Given the description of an element on the screen output the (x, y) to click on. 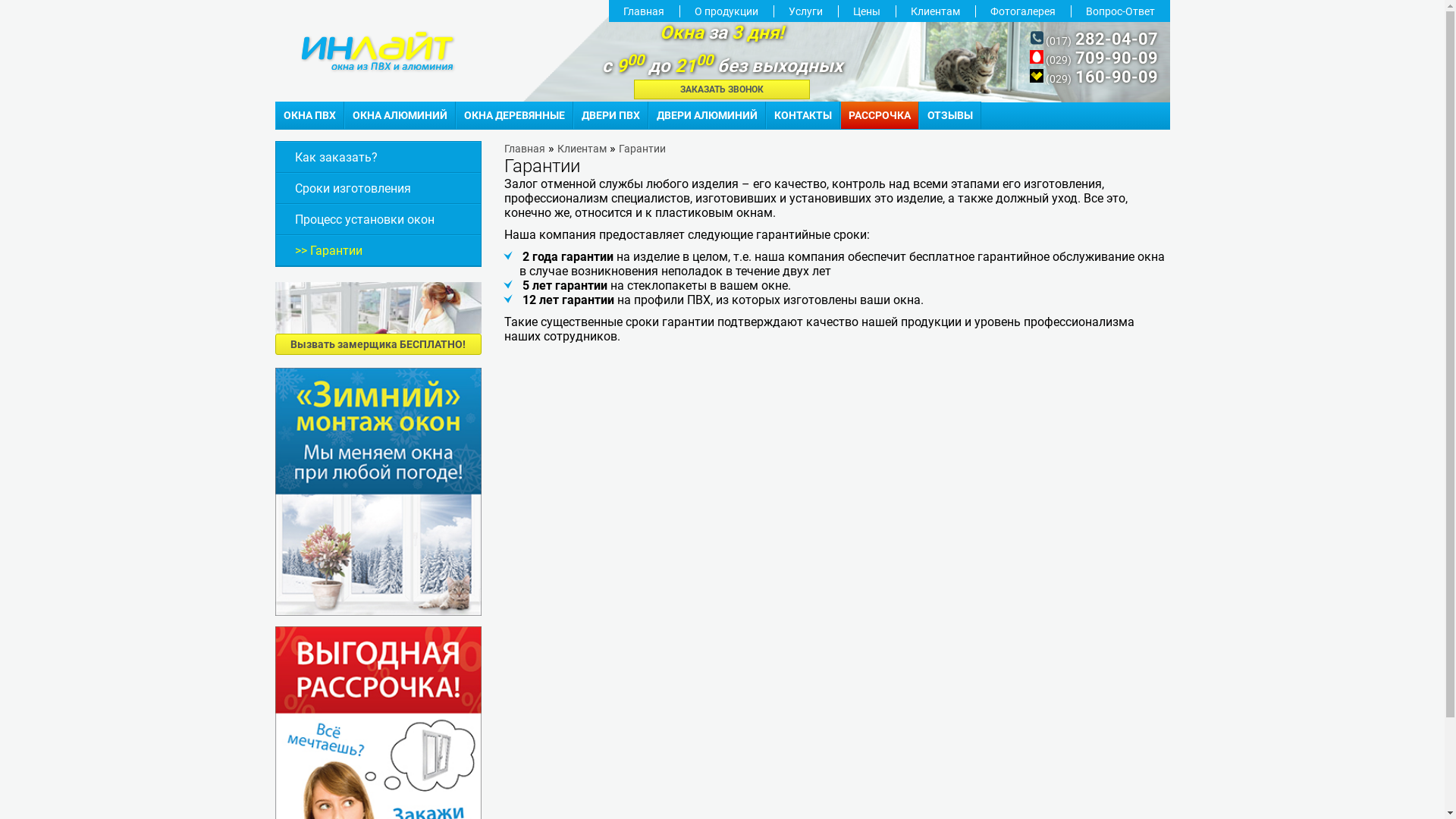
(029) 160-90-09 Element type: text (1093, 78)
(017) 282-04-07 Element type: text (1093, 40)
(029) 709-90-09 Element type: text (1093, 59)
